Given the description of an element on the screen output the (x, y) to click on. 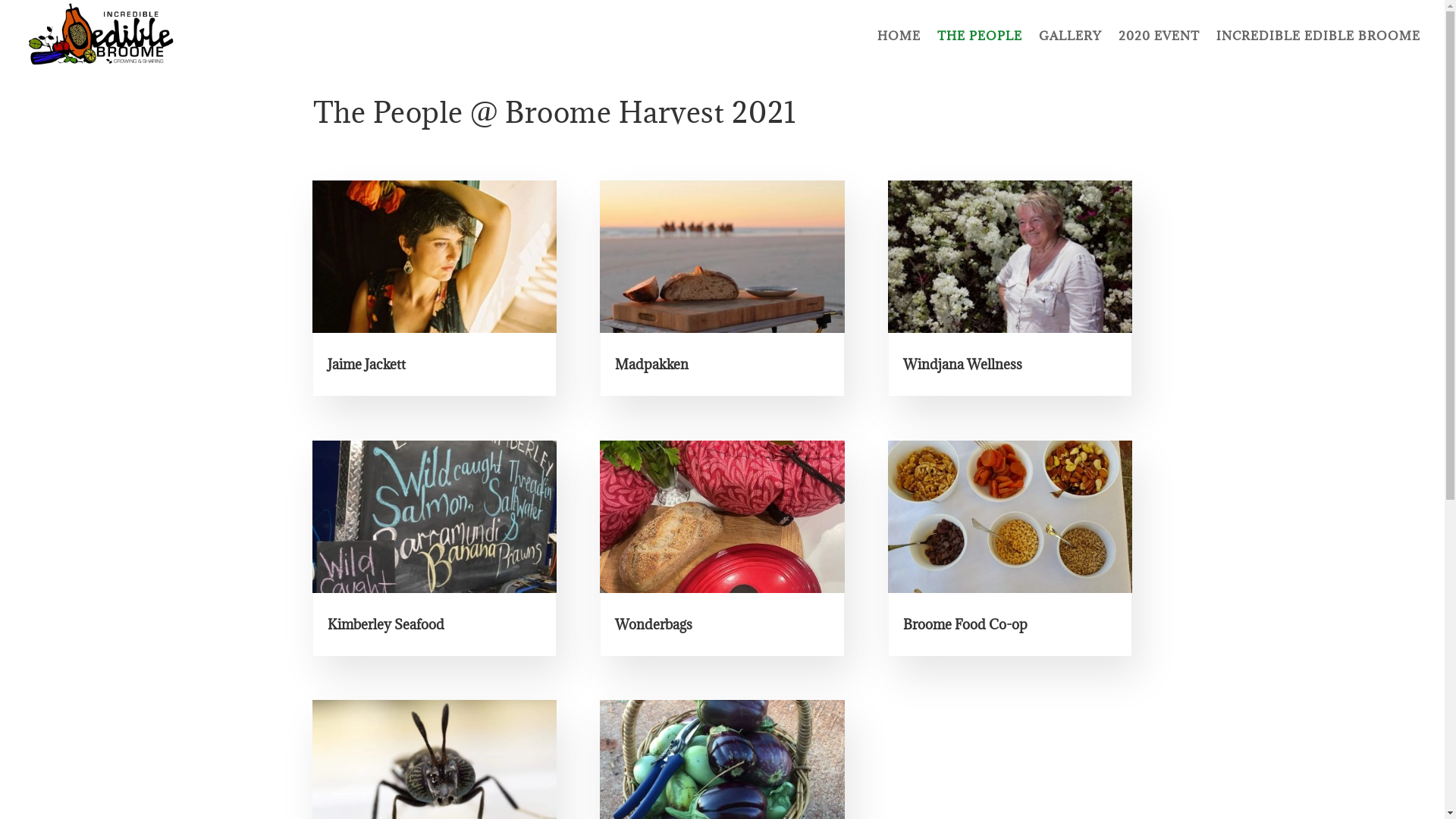
Jaime Jackett Element type: text (366, 364)
Windjana Wellness Element type: text (962, 364)
HOME Element type: text (898, 50)
THE PEOPLE Element type: text (979, 50)
Broome Food Co-op Element type: text (965, 624)
Kimberley Seafood Element type: text (385, 624)
Madpakken Element type: text (651, 364)
2020 EVENT Element type: text (1158, 50)
GALLERY Element type: text (1069, 50)
INCREDIBLE EDIBLE BROOME Element type: text (1318, 50)
Wonderbags Element type: text (653, 624)
